Given the description of an element on the screen output the (x, y) to click on. 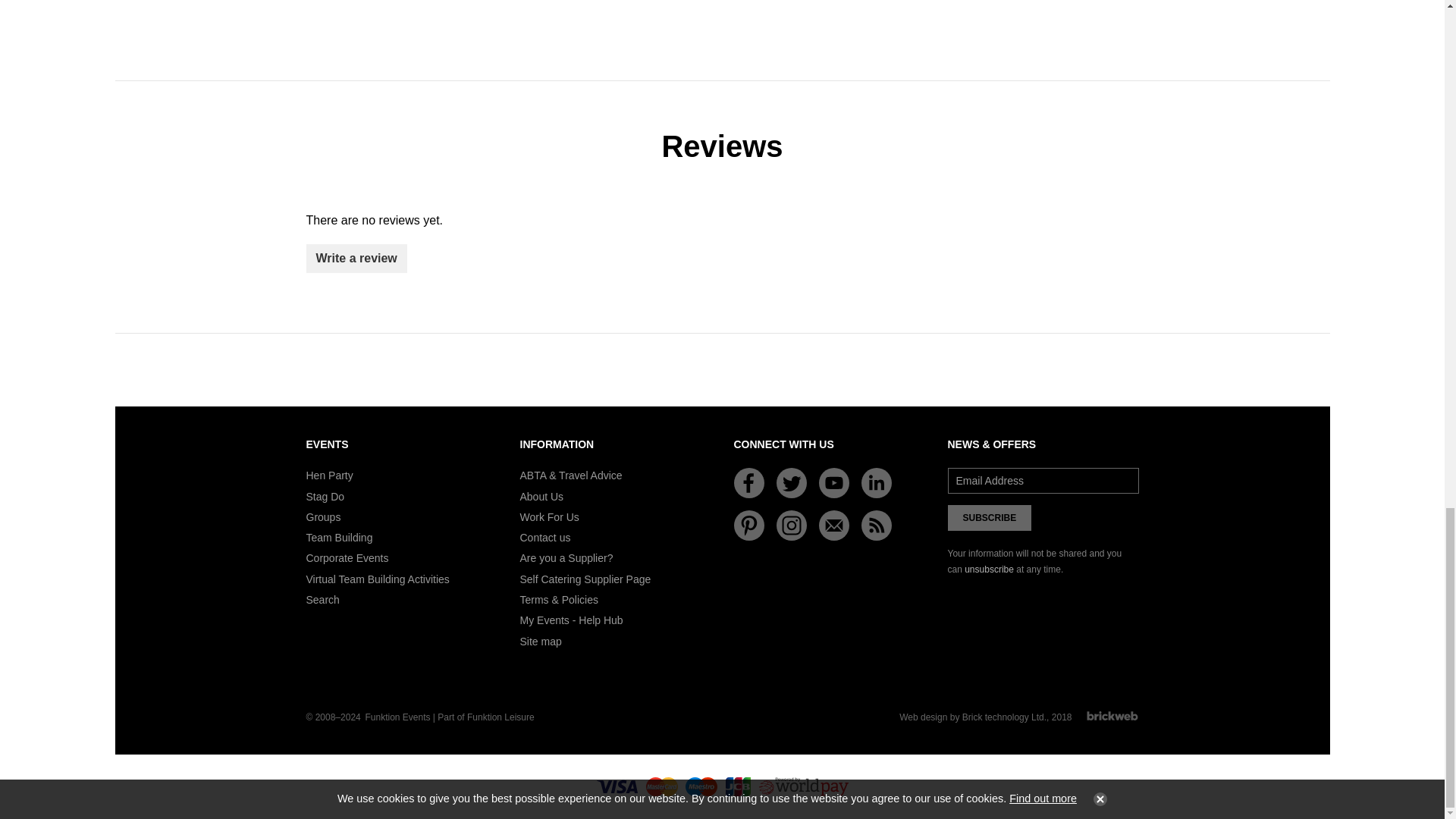
Subscribe (989, 517)
